Given the description of an element on the screen output the (x, y) to click on. 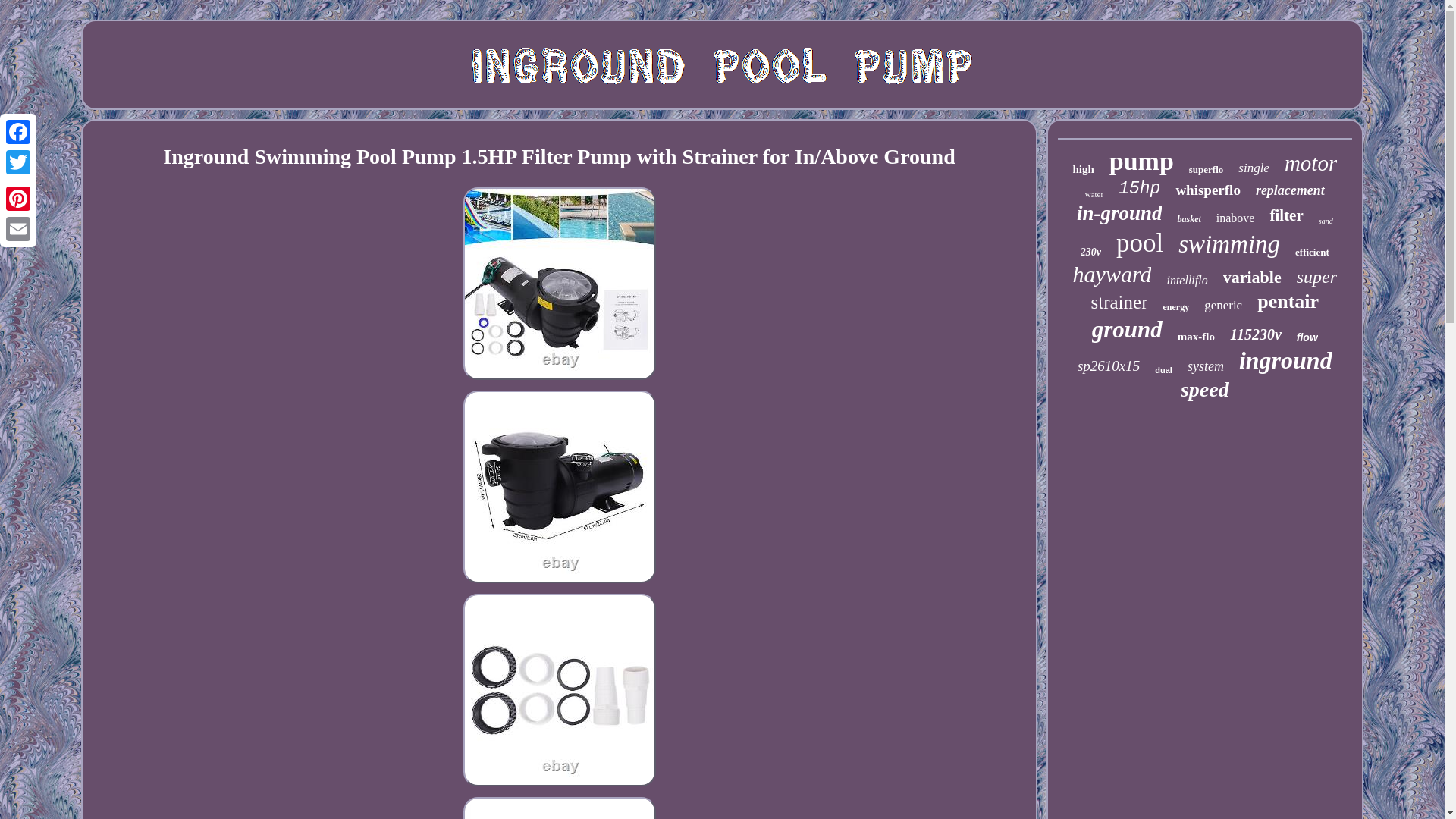
replacement (1289, 190)
efficient (1312, 252)
intelliflo (1186, 280)
single (1254, 168)
Facebook (17, 132)
filter (1286, 215)
pool (1139, 243)
in-ground (1119, 213)
15hp (1139, 189)
generic (1222, 305)
pump (1141, 161)
Twitter (17, 162)
ground (1126, 329)
motor (1310, 163)
sand (1326, 221)
